Given the description of an element on the screen output the (x, y) to click on. 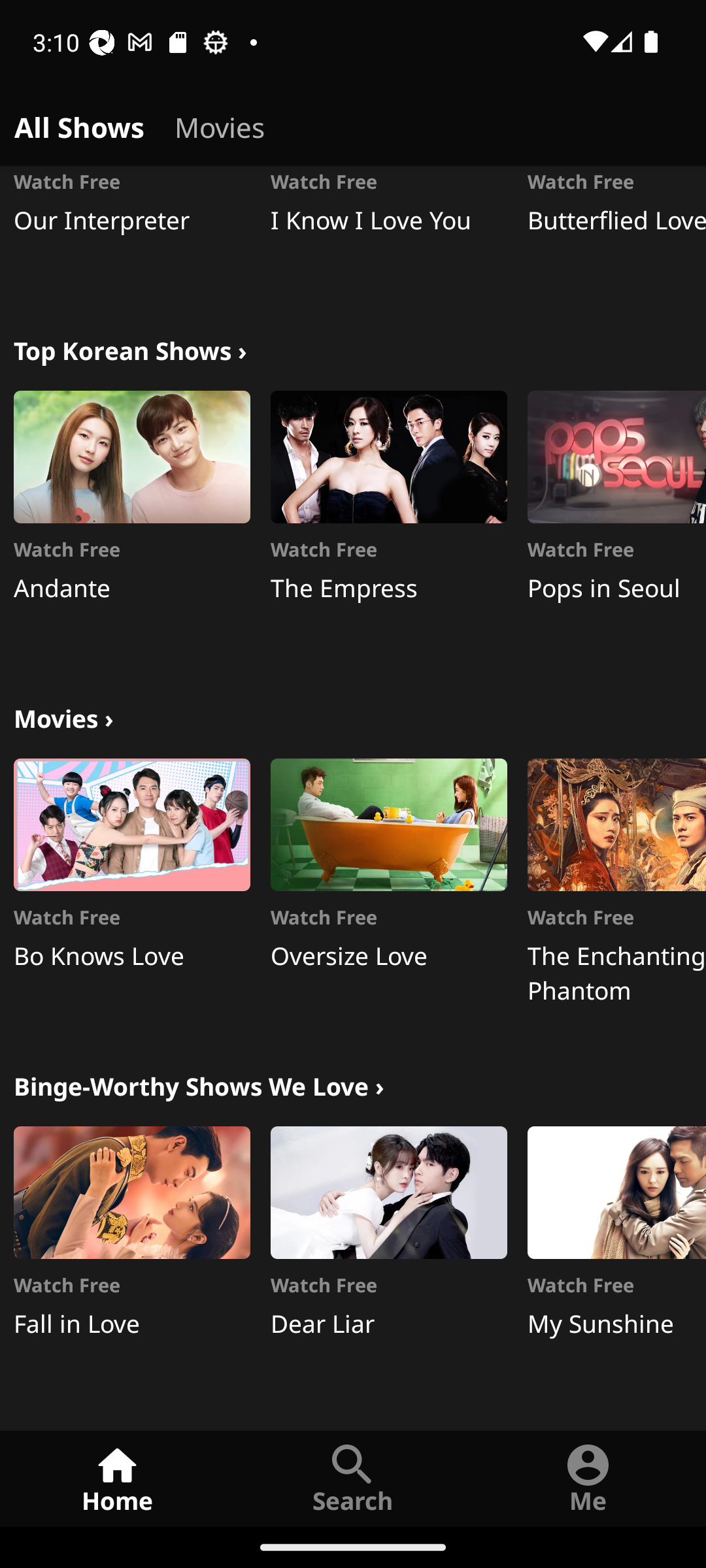
Search (352, 1478)
Me (588, 1478)
